Given the description of an element on the screen output the (x, y) to click on. 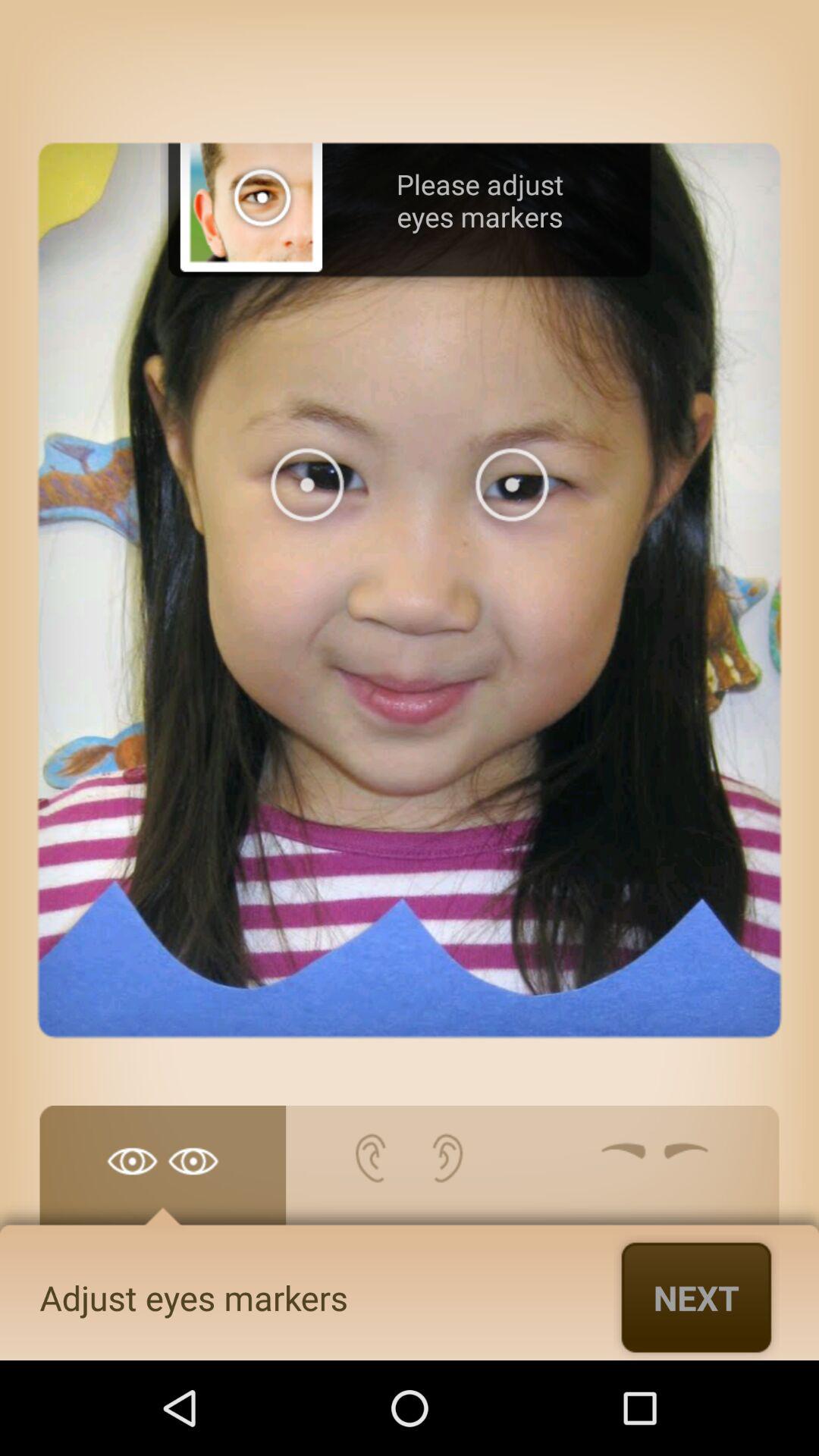
change eyebro (655, 1173)
